Given the description of an element on the screen output the (x, y) to click on. 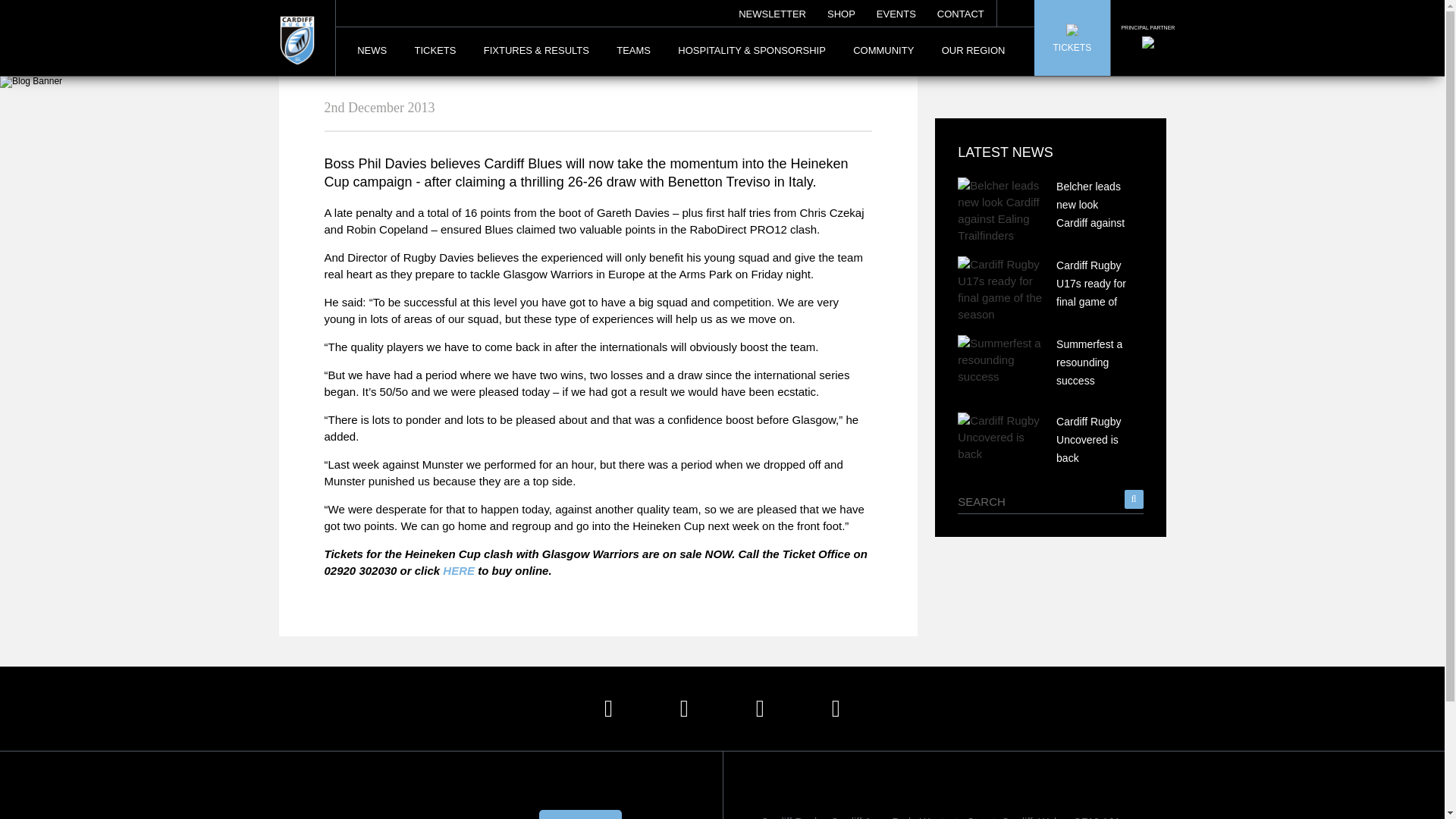
NEWSLETTER (772, 9)
SHOP (841, 9)
CONTACT (960, 9)
EVENTS (895, 9)
